Given the description of an element on the screen output the (x, y) to click on. 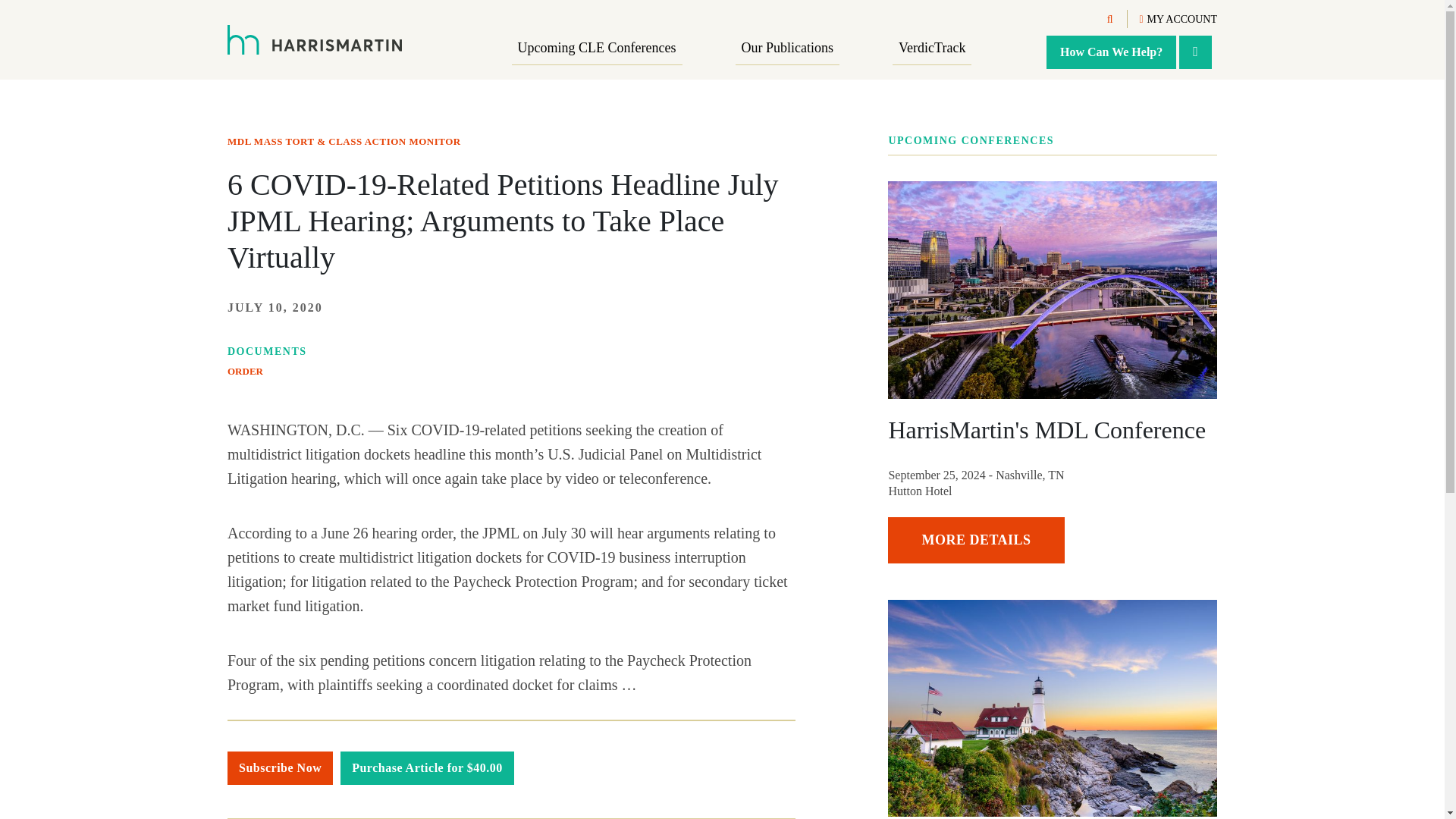
VerdicTrack (931, 48)
How Can We Help? (1111, 52)
Subscribe Now (280, 767)
MY ACCOUNT (1177, 19)
MORE DETAILS (976, 539)
Our Publications (787, 48)
Upcoming CLE Conferences (597, 48)
